Given the description of an element on the screen output the (x, y) to click on. 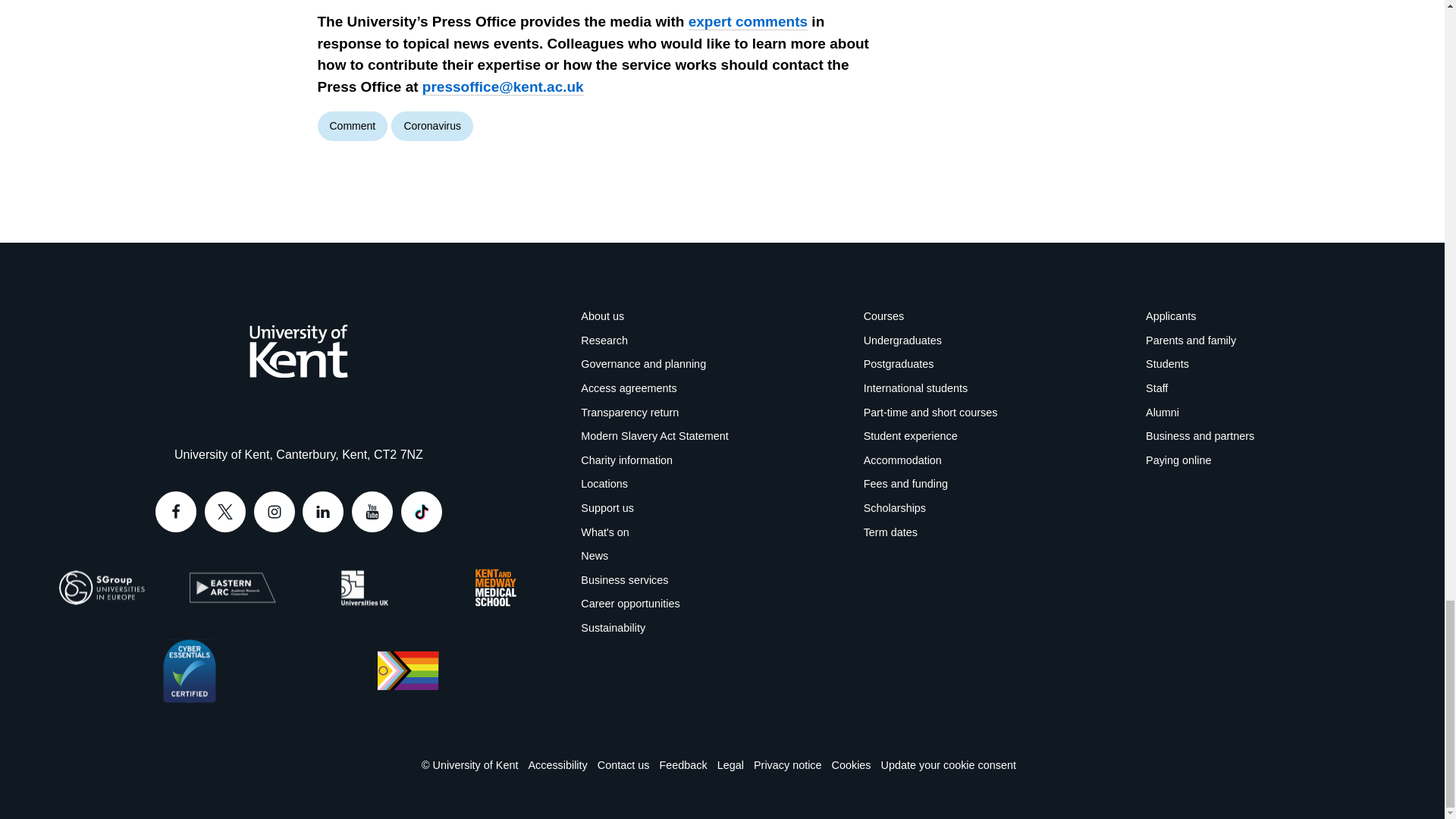
Subscribe to us on TikTok (421, 511)
Coronavirus (431, 125)
expert comments (748, 21)
Connect with us on Facebook (175, 511)
Follow us on X (225, 511)
Subscribe to us on Youtube (372, 511)
University of Kent logo (297, 350)
Follow us on Instagram (274, 511)
About us (602, 316)
Connect with us on LinkedIn (322, 511)
Comment (352, 125)
